Given the description of an element on the screen output the (x, y) to click on. 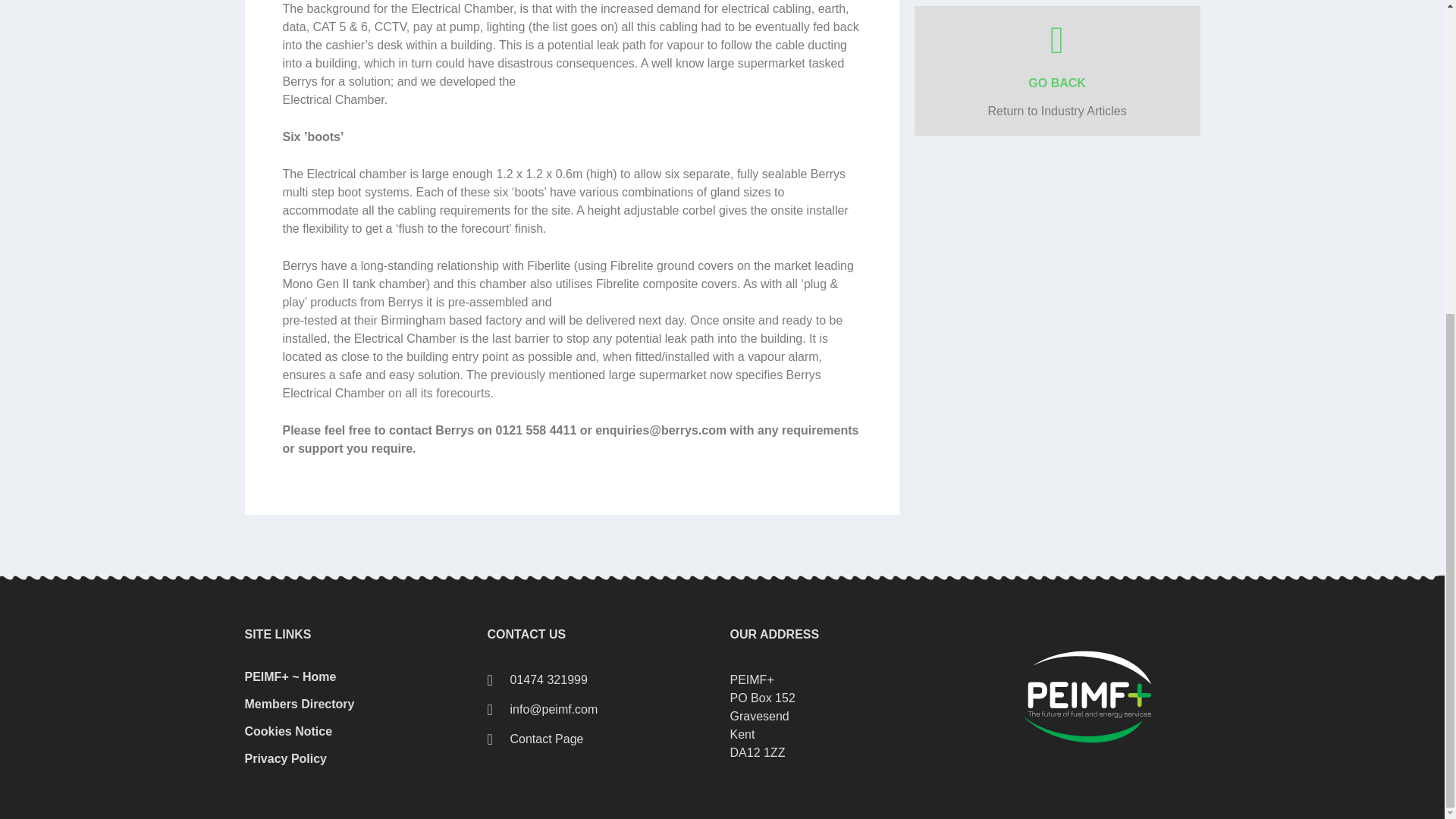
GO BACK (1056, 82)
